Given the description of an element on the screen output the (x, y) to click on. 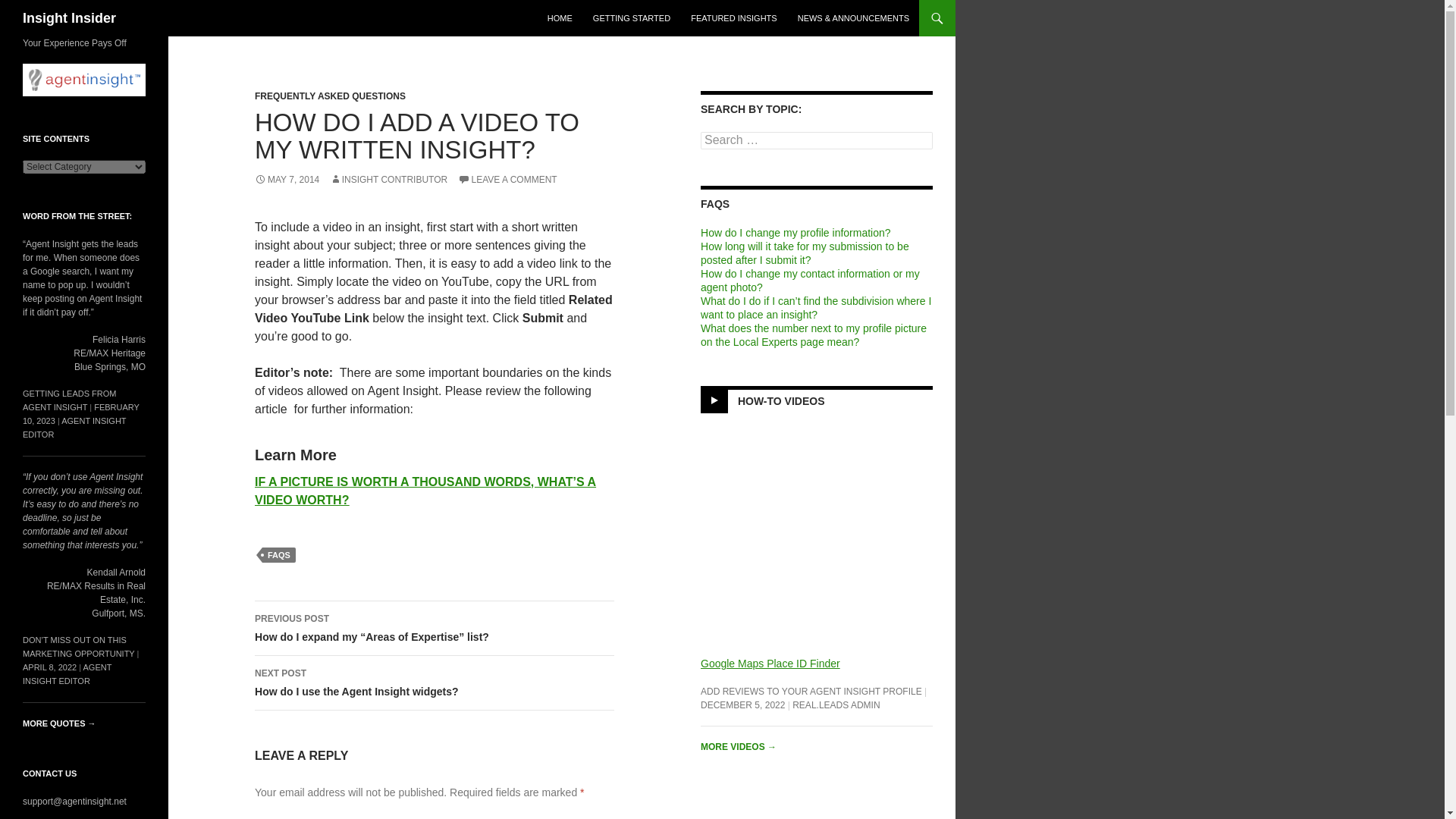
HOME (559, 18)
REAL.LEADS ADMIN (835, 705)
AGENT INSIGHT EDITOR (74, 427)
How do I change my profile information? (795, 232)
How do I change my contact information or my agent photo? (810, 280)
GETTING LEADS FROM AGENT INSIGHT (69, 400)
FREQUENTLY ASKED QUESTIONS (330, 95)
ADD REVIEWS TO YOUR AGENT INSIGHT PROFILE (810, 691)
FAQS (278, 554)
